Given the description of an element on the screen output the (x, y) to click on. 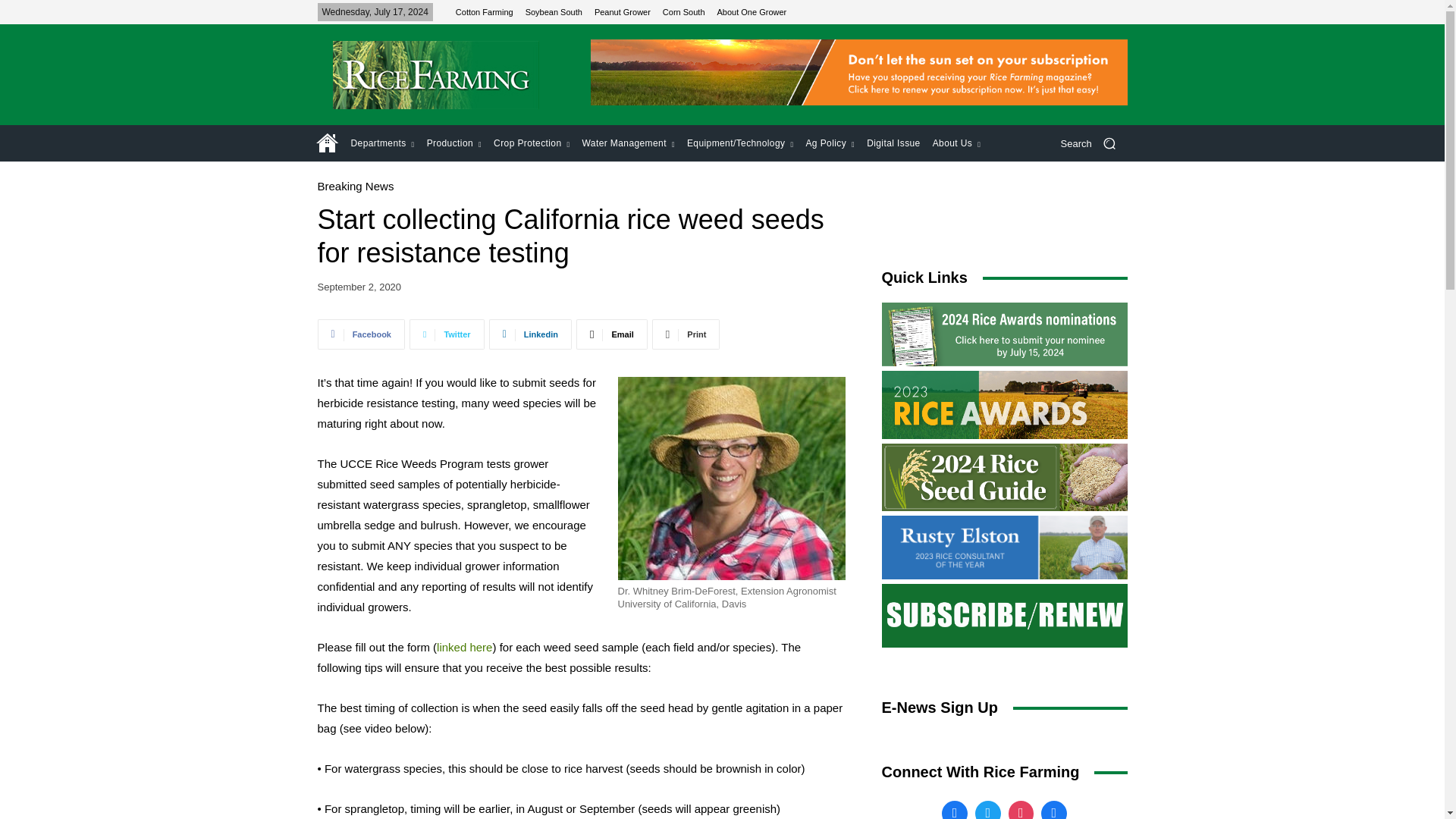
Corn South (683, 11)
Peanut Grower (622, 11)
Linkedin (530, 334)
About One Grower (752, 11)
Soybean South (553, 11)
Production (453, 143)
Twitter (446, 334)
Departments (381, 143)
Facebook (360, 334)
Email (611, 334)
Cotton Farming (484, 11)
Rice Farming Header Logo (435, 74)
Print (686, 334)
